Given the description of an element on the screen output the (x, y) to click on. 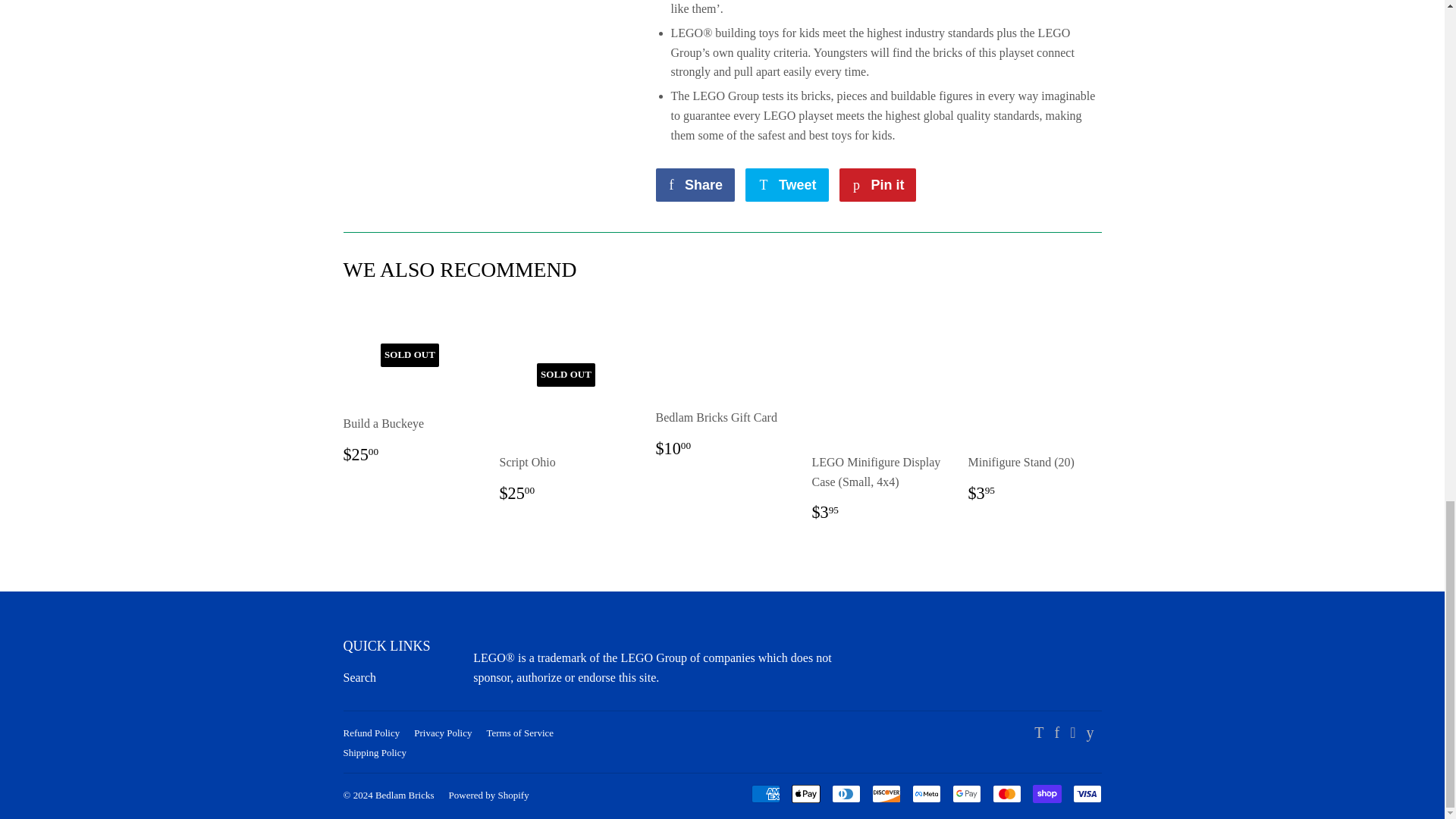
Meta Pay (925, 793)
Visa (1085, 793)
Mastercard (1005, 793)
Diners Club (845, 793)
Google Pay (966, 793)
Apple Pay (806, 793)
Share on Facebook (694, 184)
Tweet on Twitter (786, 184)
Pin on Pinterest (877, 184)
American Express (764, 793)
